Given the description of an element on the screen output the (x, y) to click on. 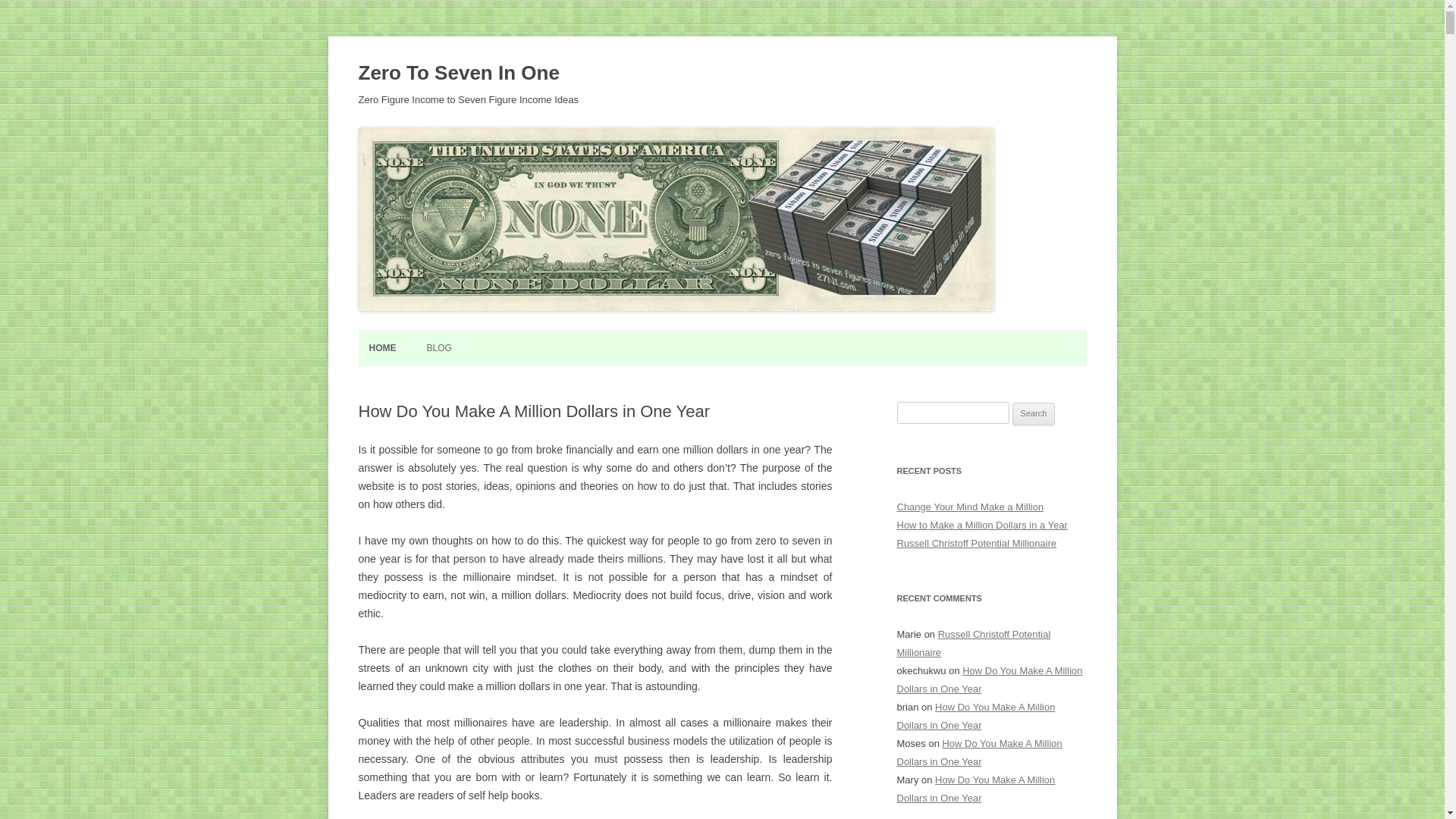
How Do You Make A Million Dollars in One Year Element type: text (975, 788)
How Do You Make A Million Dollars in One Year Element type: text (978, 752)
Search Element type: text (1033, 413)
How Do You Make A Million Dollars in One Year Element type: text (975, 716)
How to Make a Million Dollars in a Year Element type: text (981, 524)
HOME Element type: text (381, 347)
BLOG Element type: text (438, 347)
Change Your Mind Make a Million Element type: text (969, 506)
Russell Christoff Potential Millionaire Element type: text (976, 543)
How Do You Make A Million Dollars in One Year Element type: text (989, 679)
Zero To Seven In One Element type: text (457, 72)
Skip to content Element type: text (756, 335)
Russell Christoff Potential Millionaire Element type: text (973, 643)
